Given the description of an element on the screen output the (x, y) to click on. 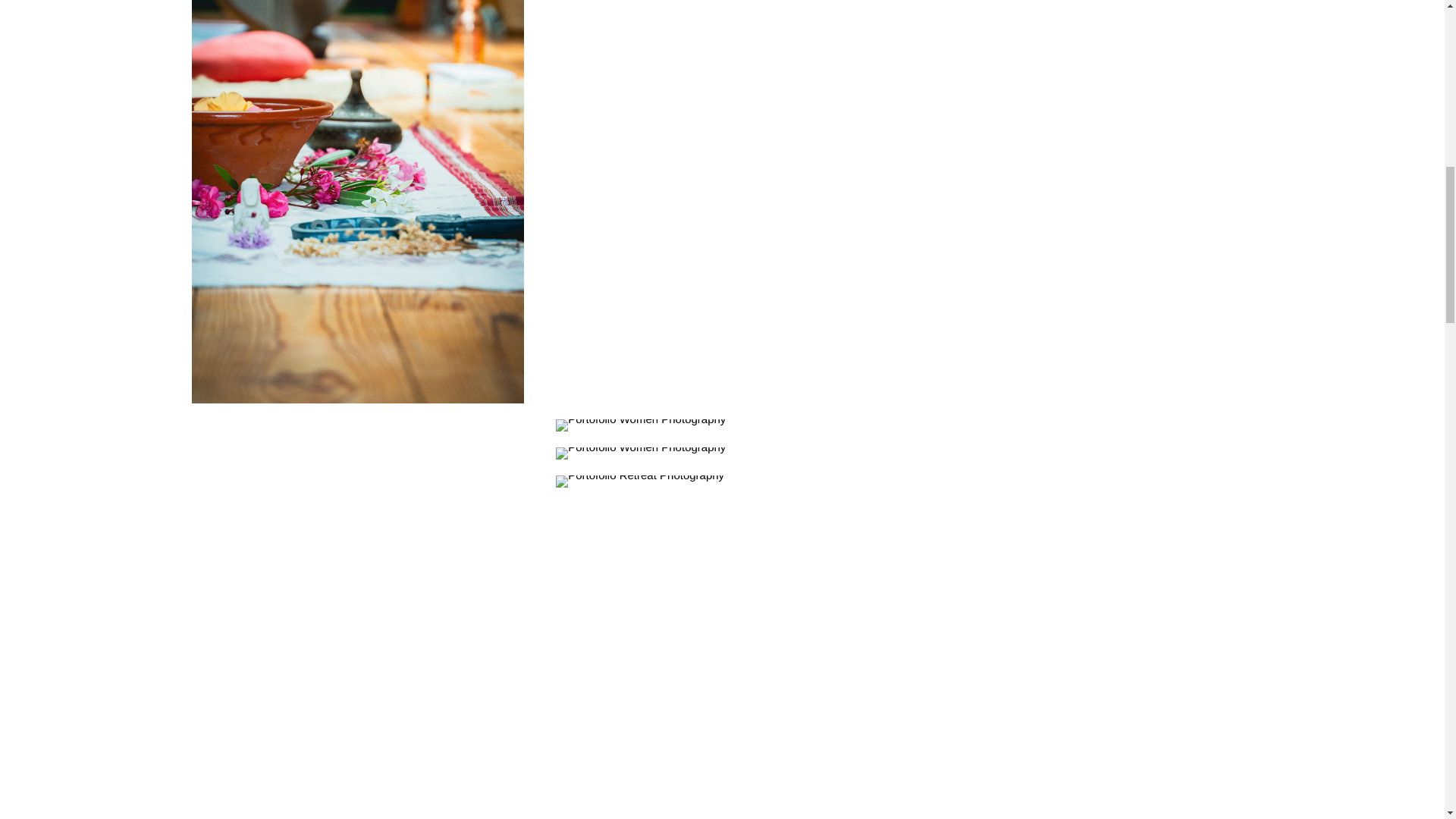
A7305924 (640, 425)
